Given the description of an element on the screen output the (x, y) to click on. 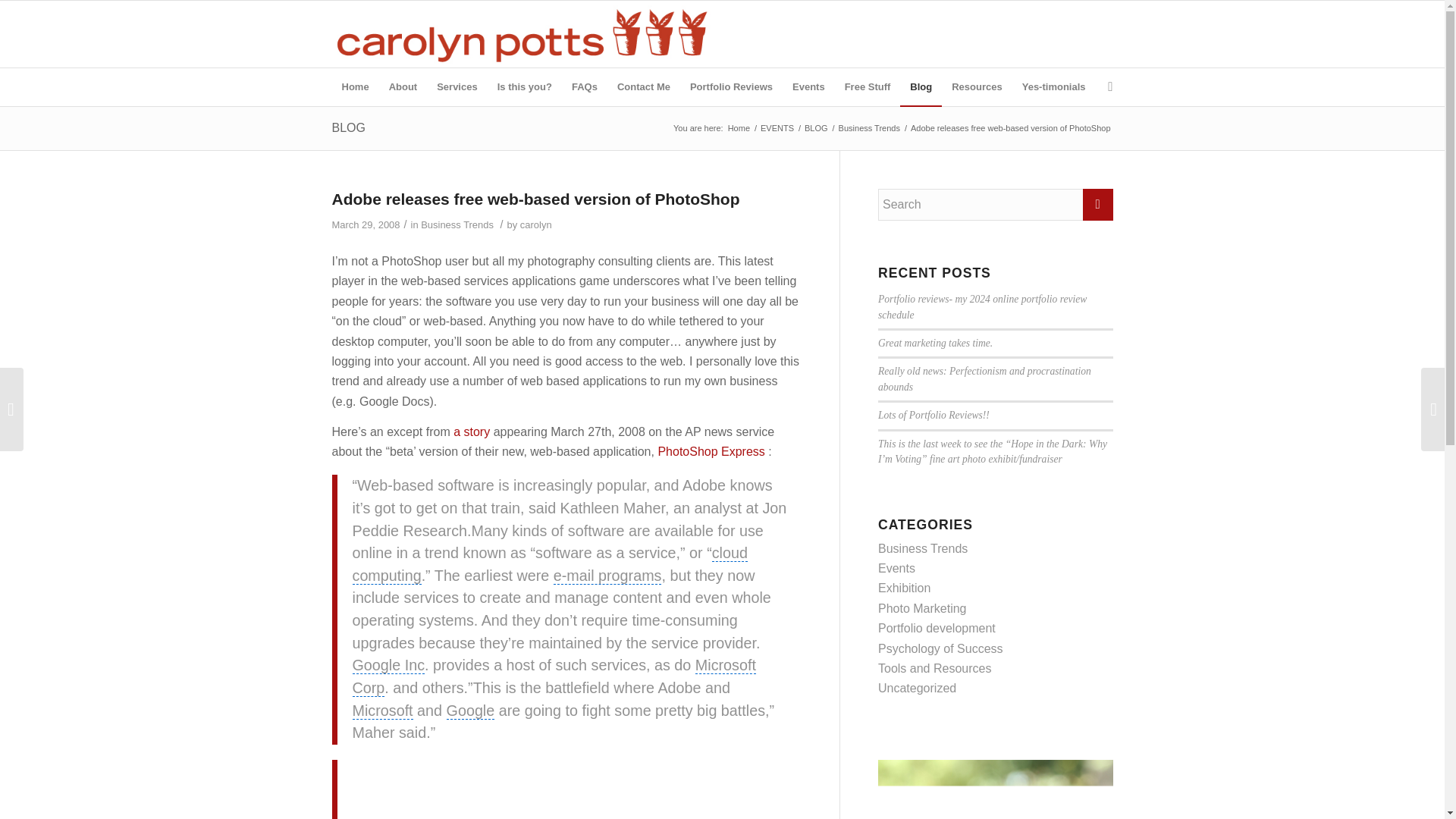
Permanent Link: BLOG (348, 127)
Posts by carolyn (535, 224)
BLOG (815, 128)
BLOG (815, 128)
Is this you? (524, 86)
Great marketing takes time. (934, 342)
Blog (920, 86)
a story (470, 431)
Portfolio reviews- my 2024 online portfolio review schedule (981, 306)
Home (738, 128)
Free Stuff (867, 86)
EVENTS (777, 128)
Portfolio Reviews (731, 86)
BLOG (348, 127)
Business Trends (922, 548)
